Given the description of an element on the screen output the (x, y) to click on. 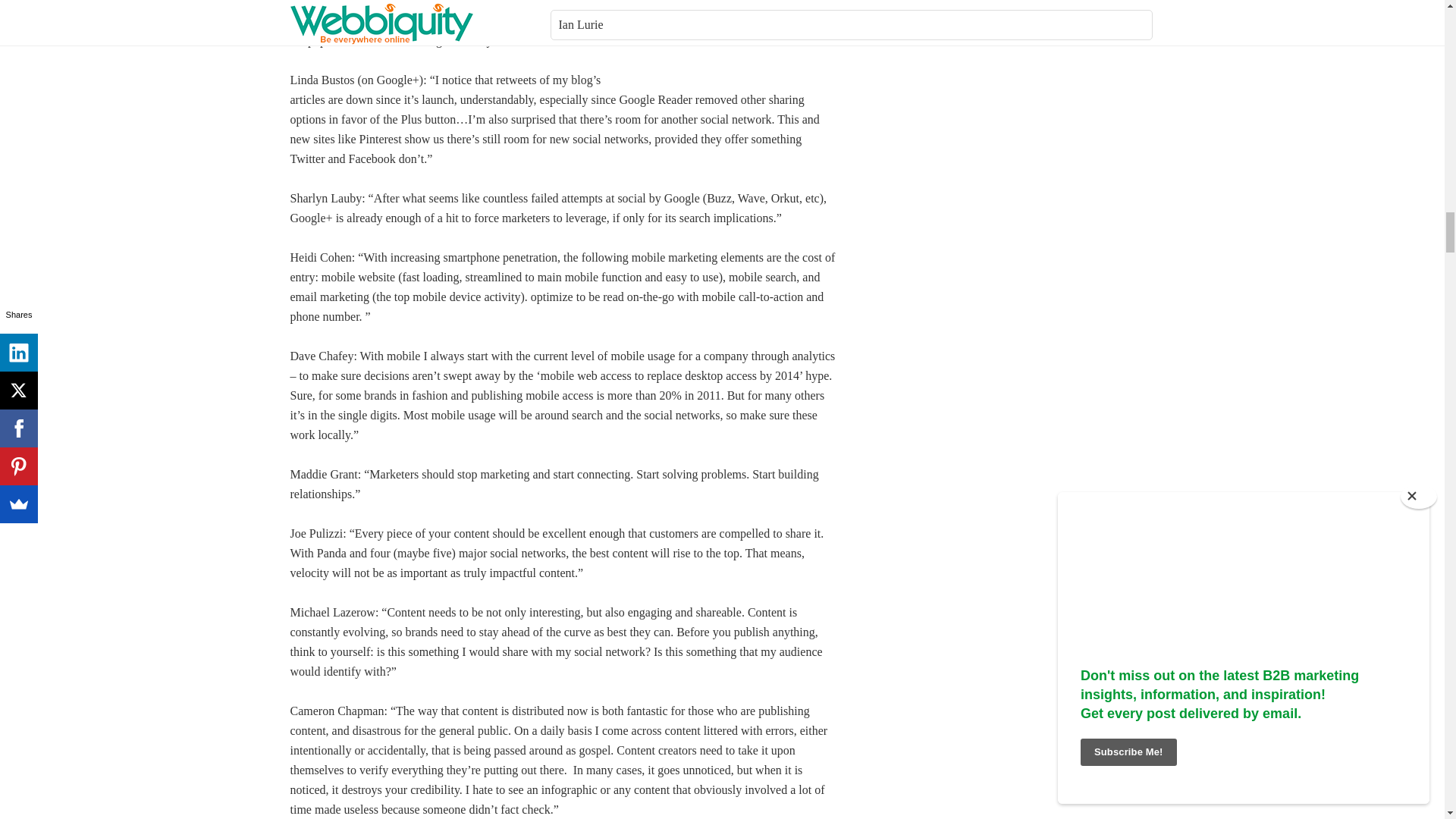
hubspot-pearls-mktg-wisdom (731, 33)
